Given the description of an element on the screen output the (x, y) to click on. 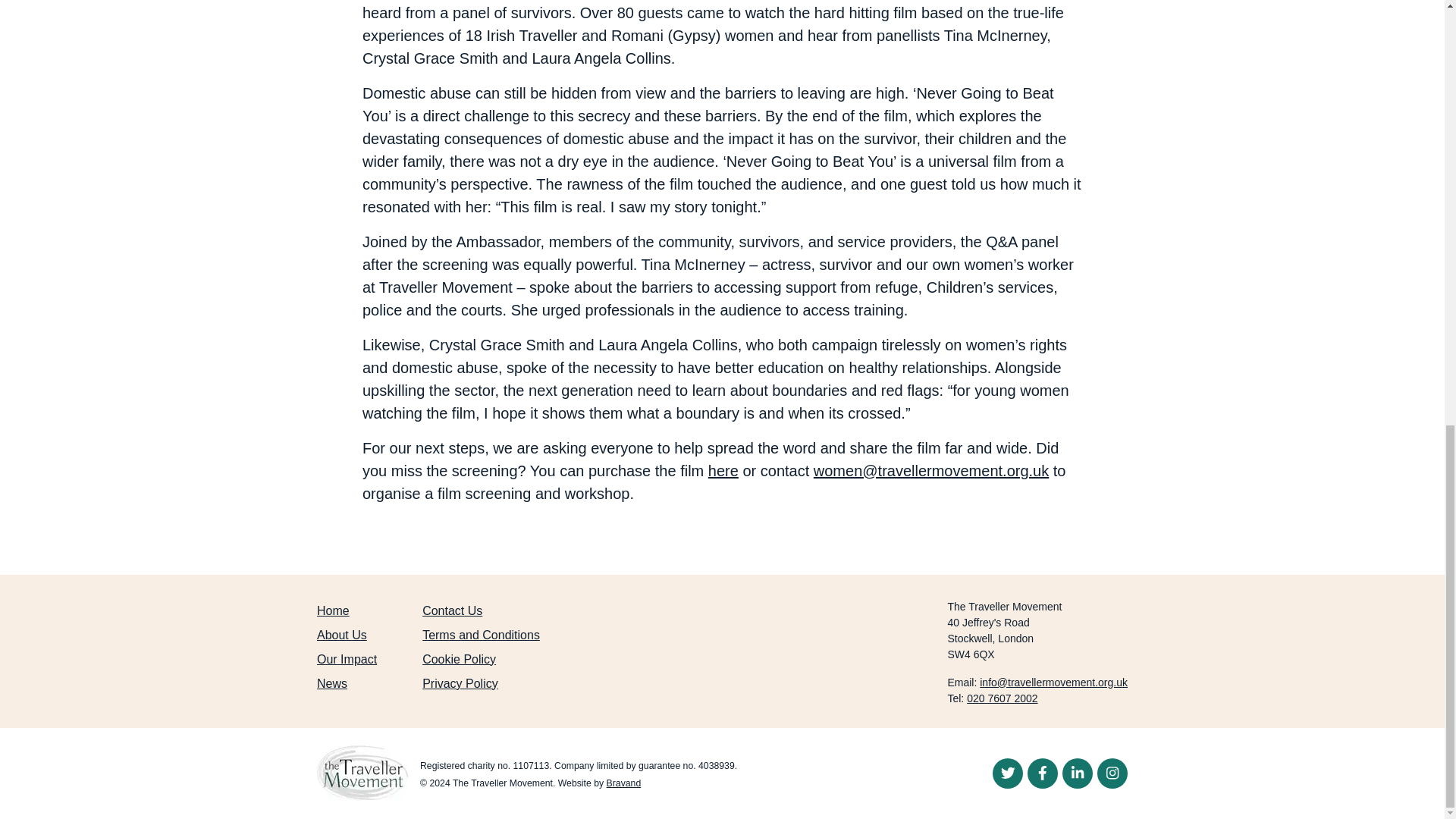
Contact Us (451, 610)
News (332, 683)
About Us (341, 634)
Terms and Conditions (481, 634)
Home (333, 610)
here (722, 470)
Privacy Policy (459, 683)
Our Impact (347, 658)
Cookie Policy (459, 658)
